Given the description of an element on the screen output the (x, y) to click on. 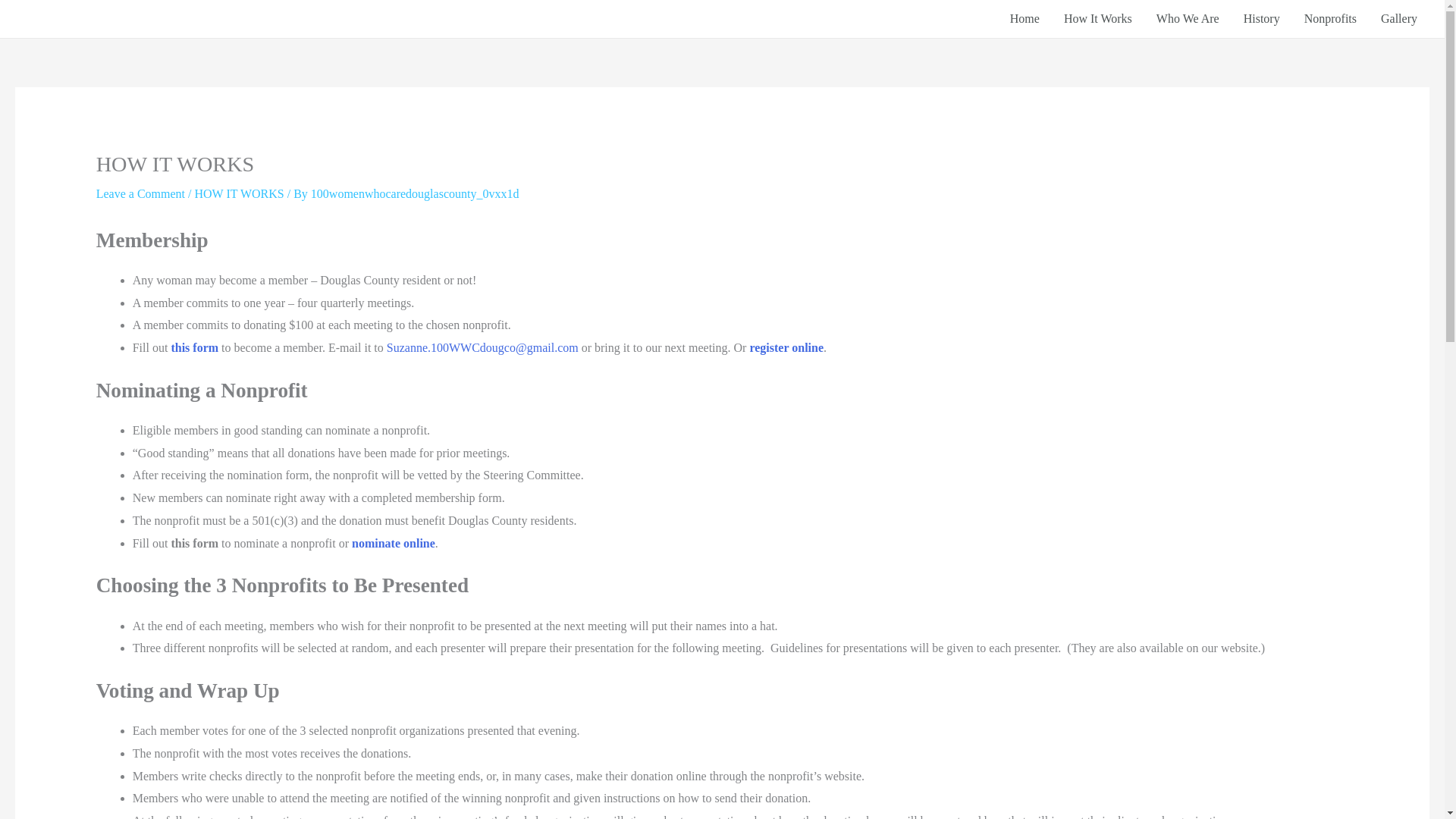
this form (194, 347)
nominate online (393, 543)
HOW IT WORKS (238, 193)
Nonprofits (1330, 18)
register online (786, 347)
History (1261, 18)
Home (1024, 18)
register online (786, 347)
this form (194, 347)
Gallery (1398, 18)
